Given the description of an element on the screen output the (x, y) to click on. 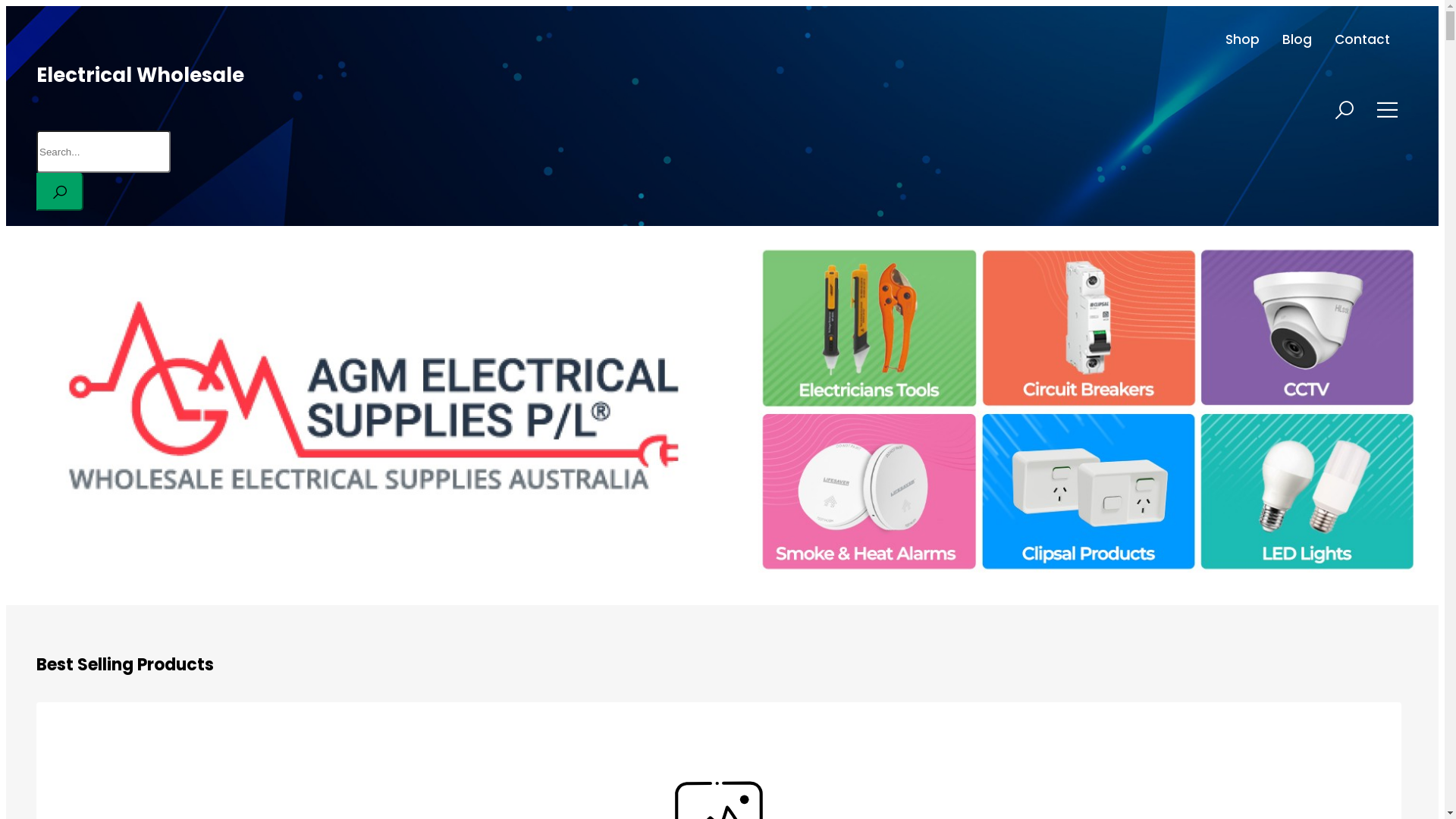
Electrical Wholesale Element type: text (140, 74)
Shop Element type: text (1242, 39)
Contact Element type: text (1362, 39)
Blog Element type: text (1296, 39)
